Given the description of an element on the screen output the (x, y) to click on. 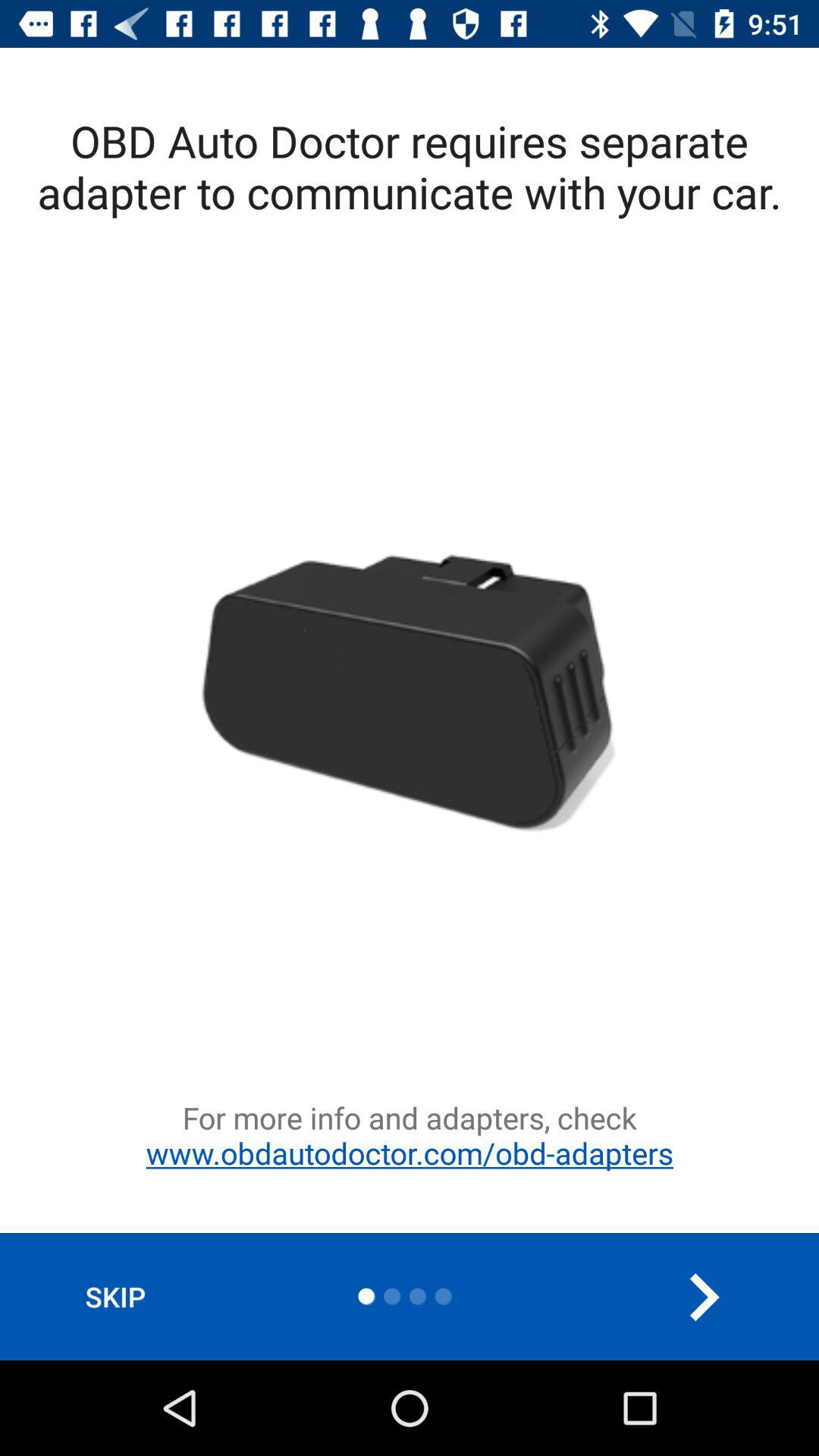
swipe until for more info (409, 1165)
